Given the description of an element on the screen output the (x, y) to click on. 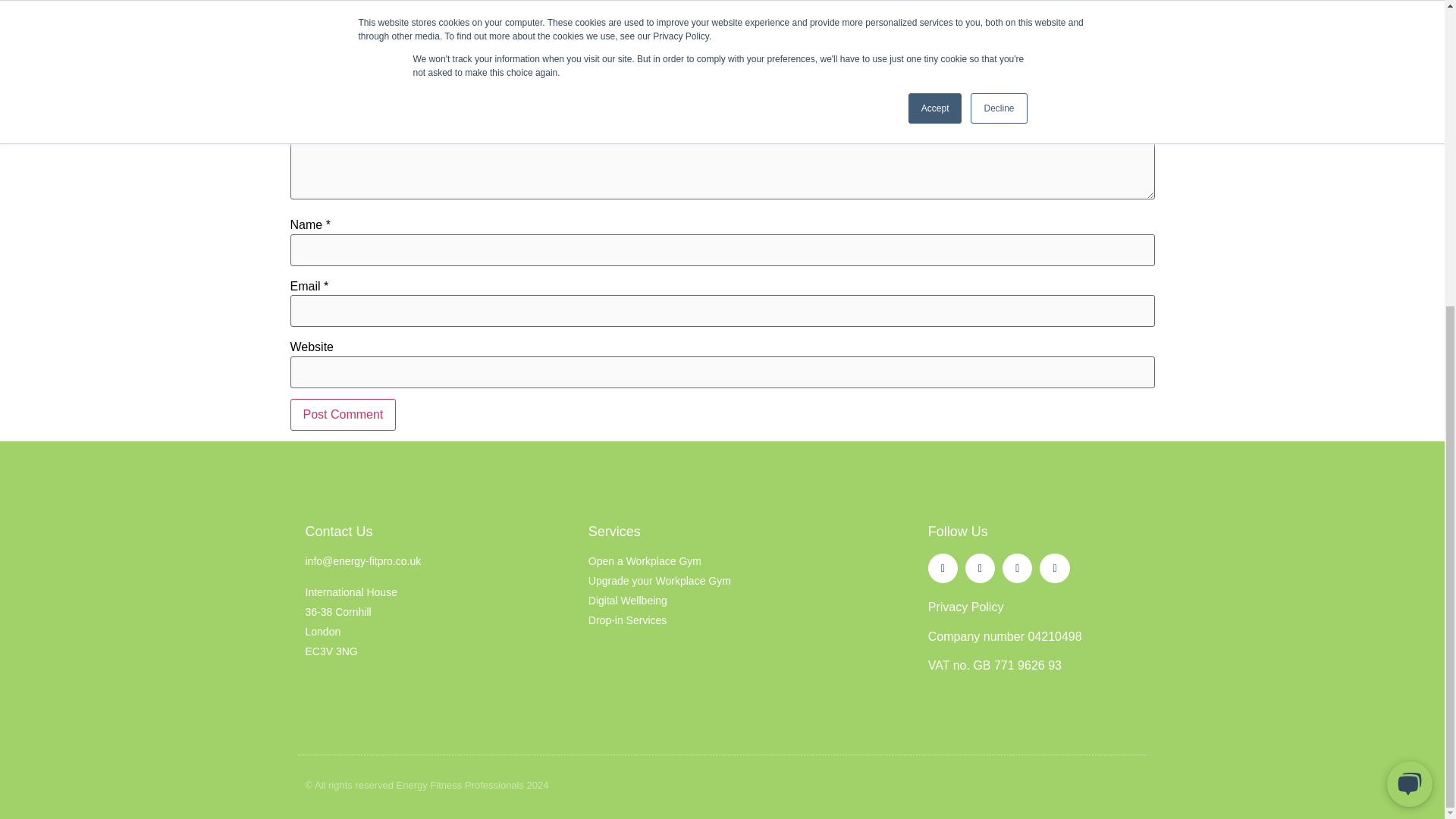
Open a Workplace Gym (722, 561)
Drop-in Services (722, 620)
Post Comment (342, 414)
Upgrade your Workplace Gym (722, 580)
Digital Wellbeing (722, 600)
Post Comment (342, 414)
Privacy Policy (966, 606)
